Given the description of an element on the screen output the (x, y) to click on. 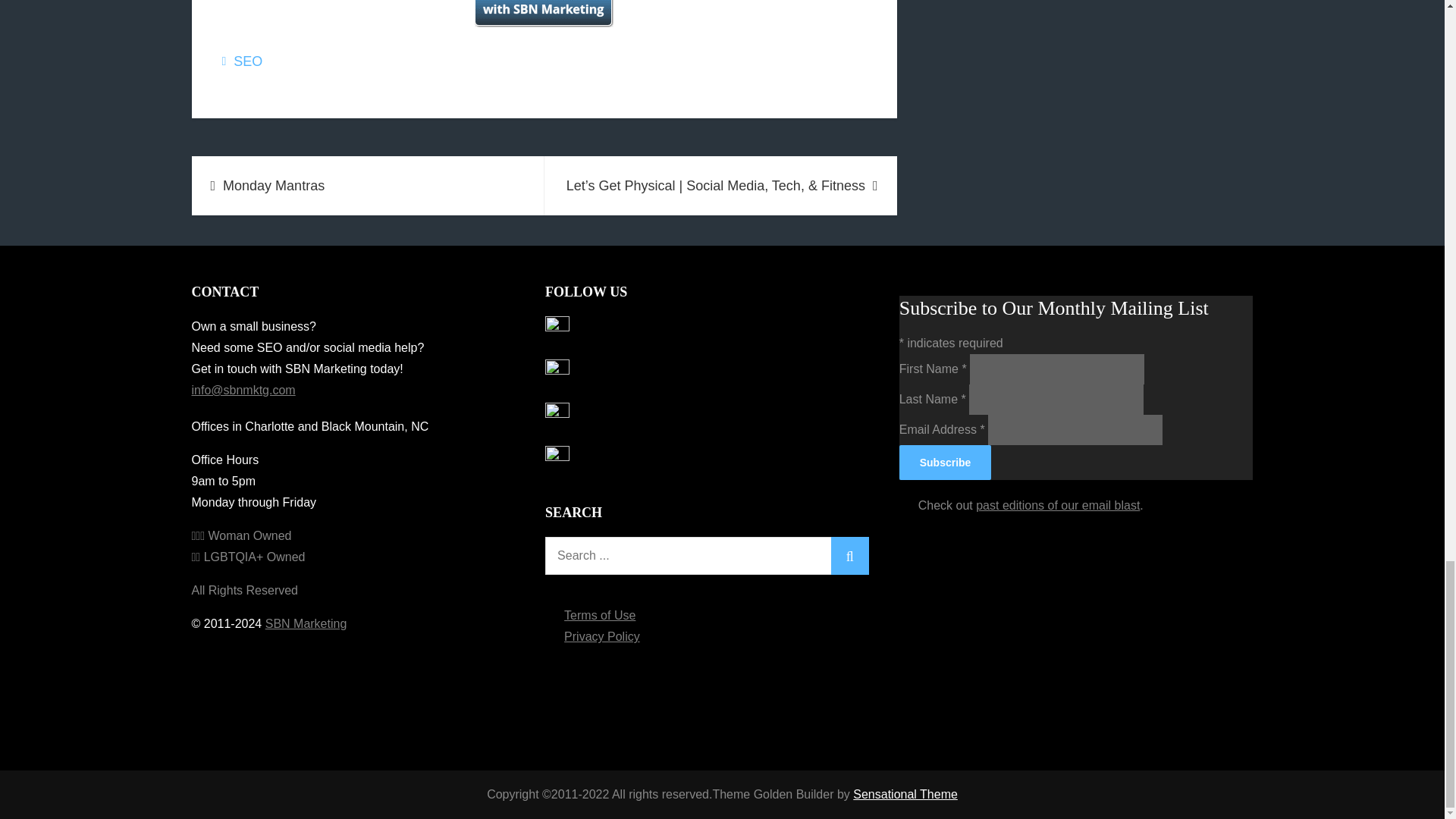
SEO (247, 61)
Sensational Theme (905, 793)
Search (850, 555)
Subscribe (945, 462)
Monday Mantras (366, 185)
Search for: (706, 555)
Privacy Policy (602, 635)
past editions of our email blast (1057, 504)
Terms of Use (599, 615)
Subscribe (945, 462)
SBN Marketing (305, 623)
